Given the description of an element on the screen output the (x, y) to click on. 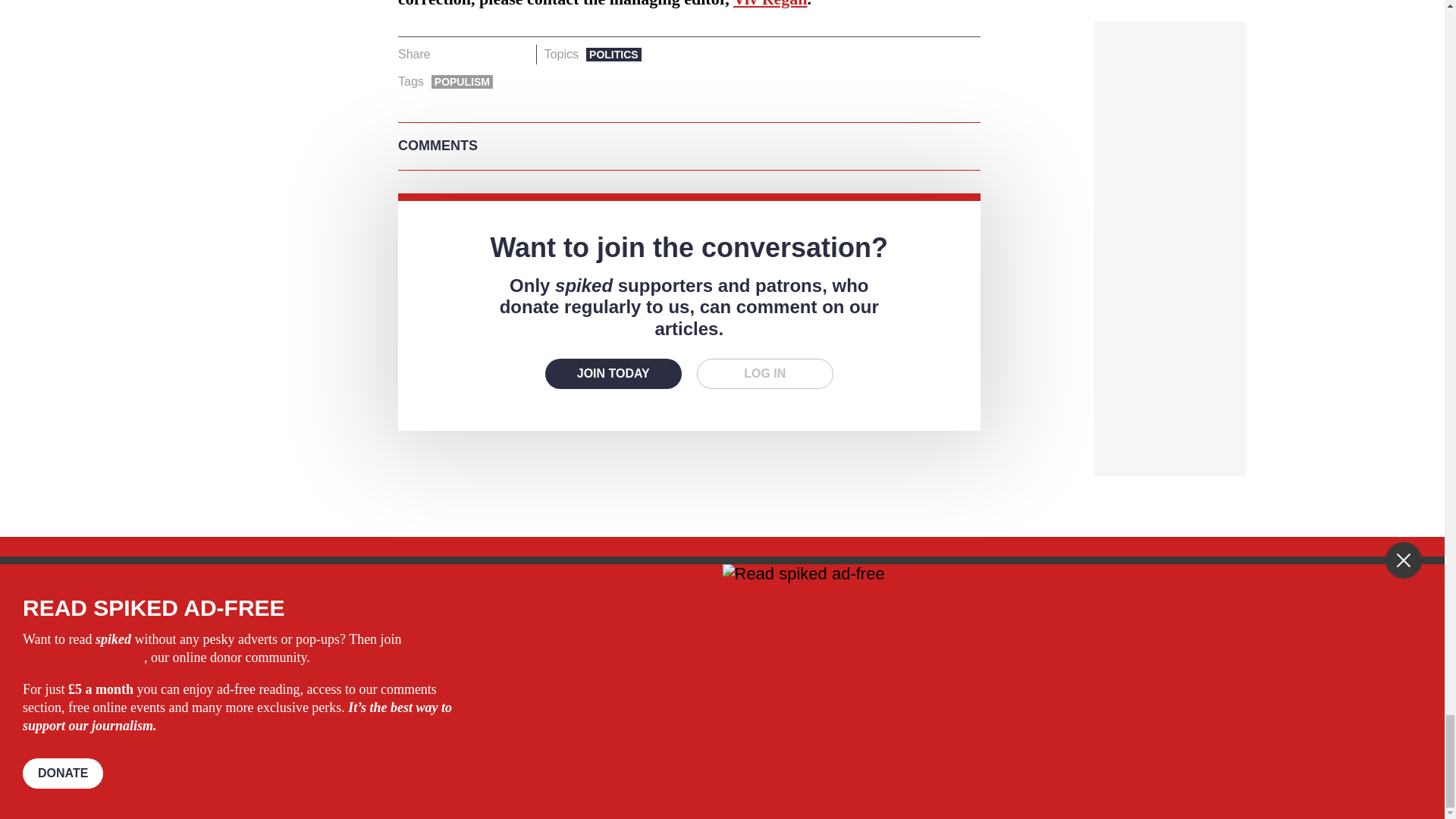
Share on Whatsapp (494, 54)
Share on Twitter (471, 54)
Share on Email (518, 54)
Share on Facebook (448, 54)
